Given the description of an element on the screen output the (x, y) to click on. 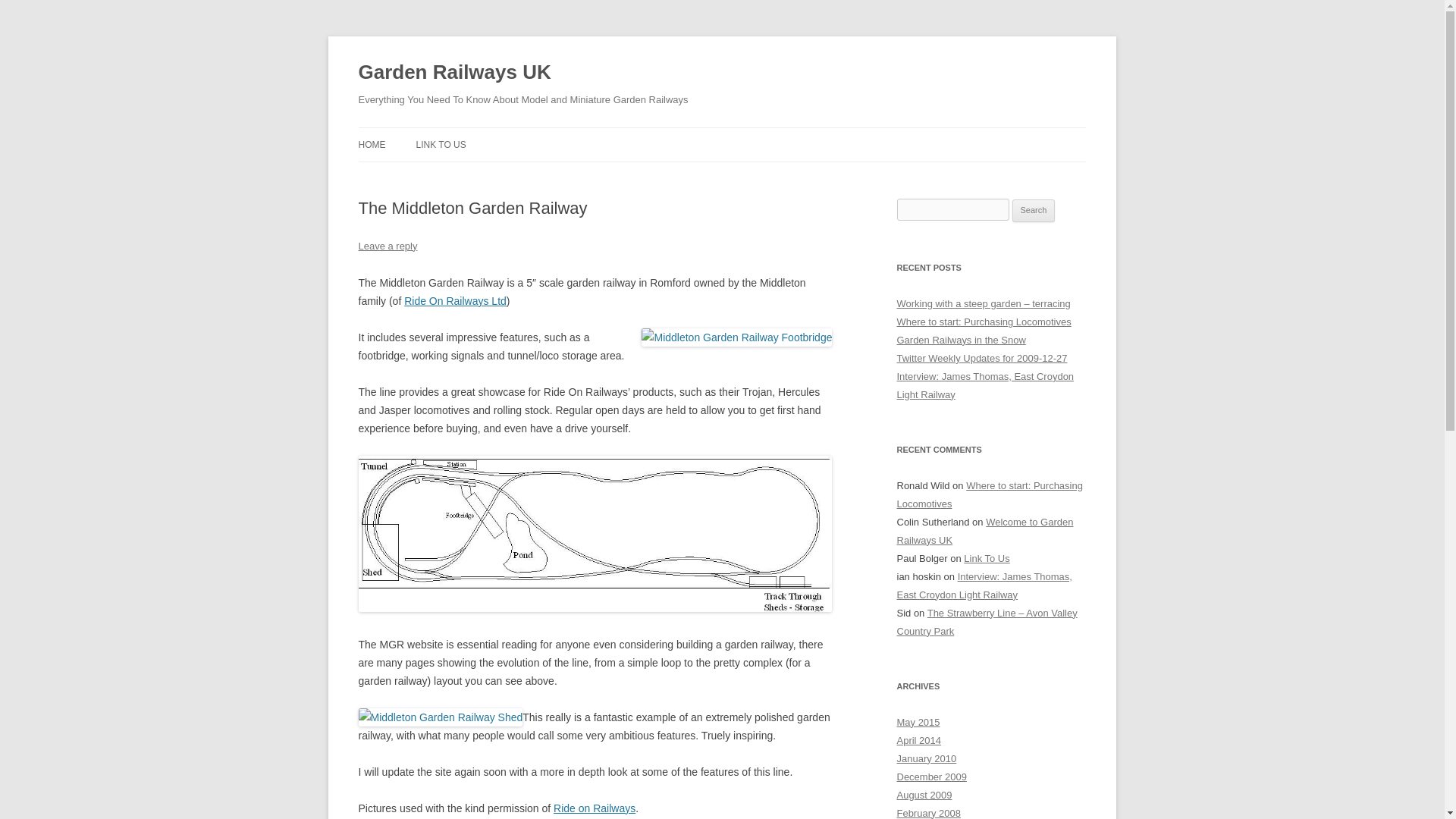
Garden Railways in the Snow (960, 339)
Middleton Garden Railway Track Plan (594, 607)
Ride on Railways (593, 808)
Where to start: Purchasing Locomotives (988, 494)
Interview: James Thomas, East Croydon Light Railway (983, 585)
April 2014 (918, 740)
Interview: James Thomas, East Croydon Light Railway (985, 385)
February 2008 (927, 813)
Leave a reply (387, 245)
Search (1033, 210)
